Given the description of an element on the screen output the (x, y) to click on. 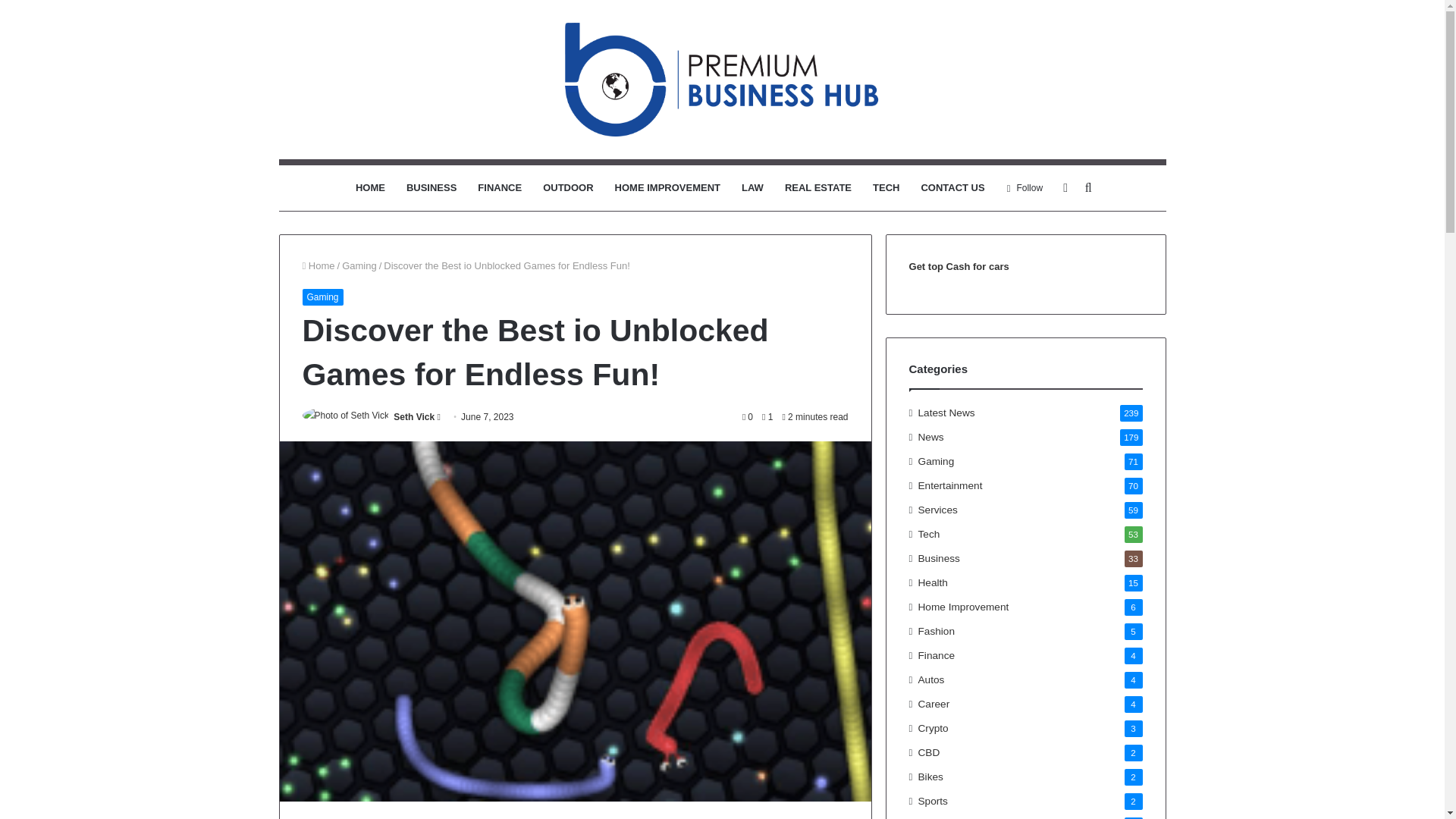
HOME IMPROVEMENT (667, 187)
Seth Vick (413, 416)
Gaming (359, 265)
FINANCE (499, 187)
BUSINESS (431, 187)
TECH (885, 187)
Premium Business Hub (721, 79)
Gaming (321, 297)
Follow (1024, 187)
REAL ESTATE (817, 187)
HOME (370, 187)
LAW (752, 187)
Seth Vick (413, 416)
Home (317, 265)
CONTACT US (952, 187)
